Given the description of an element on the screen output the (x, y) to click on. 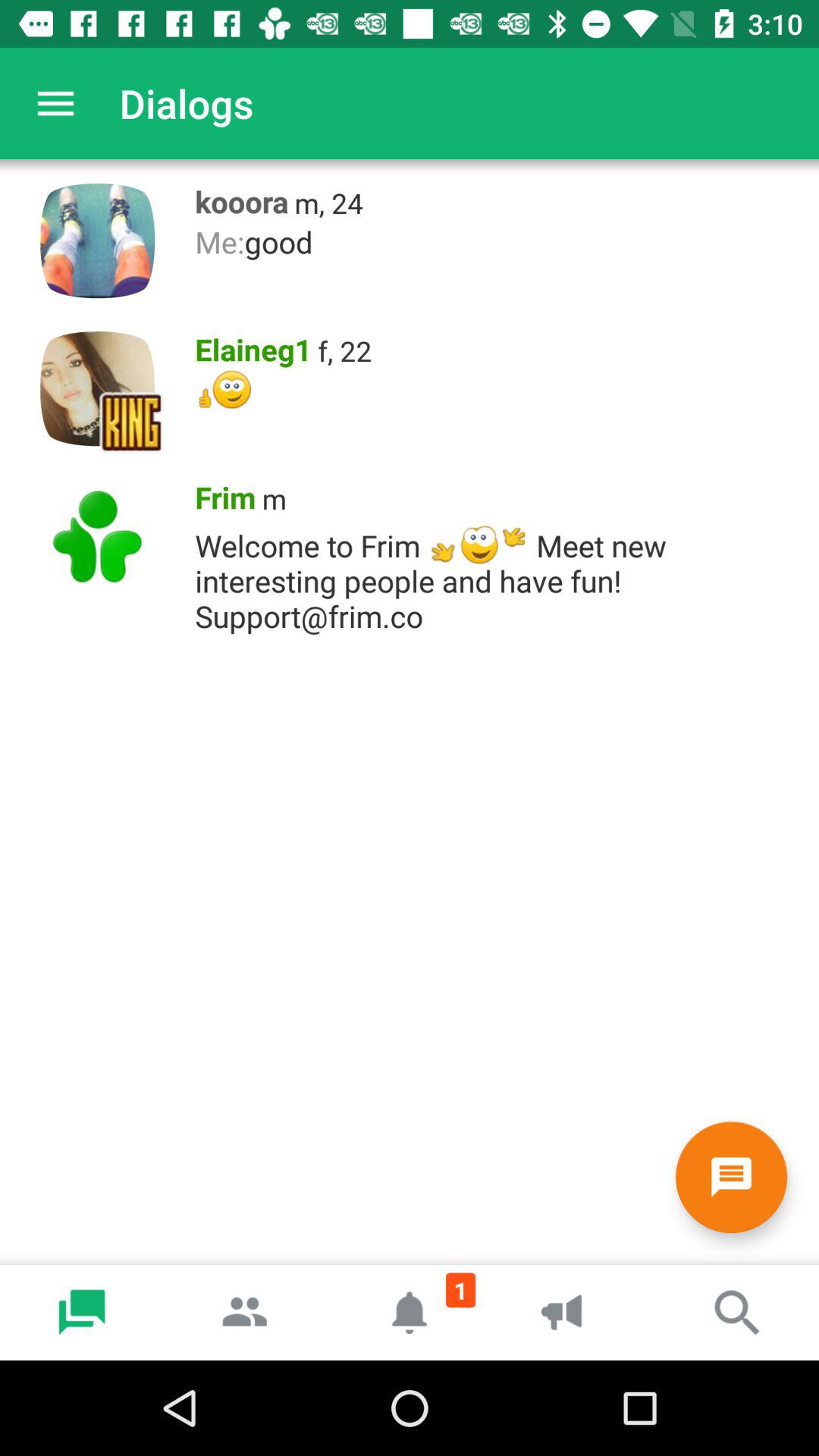
tap the icon above me:good item (328, 202)
